Given the description of an element on the screen output the (x, y) to click on. 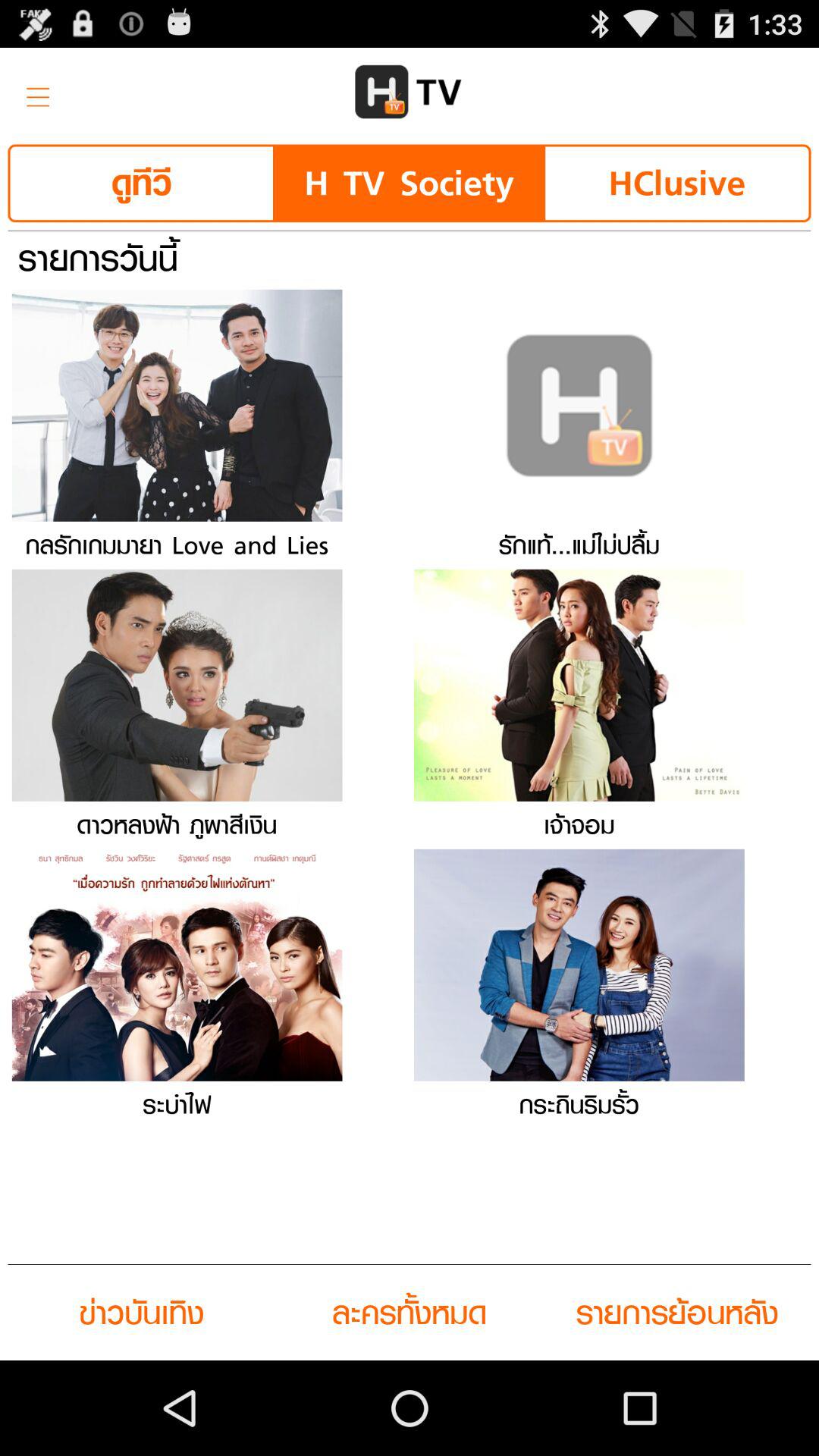
select button next to h tv society button (141, 183)
